Given the description of an element on the screen output the (x, y) to click on. 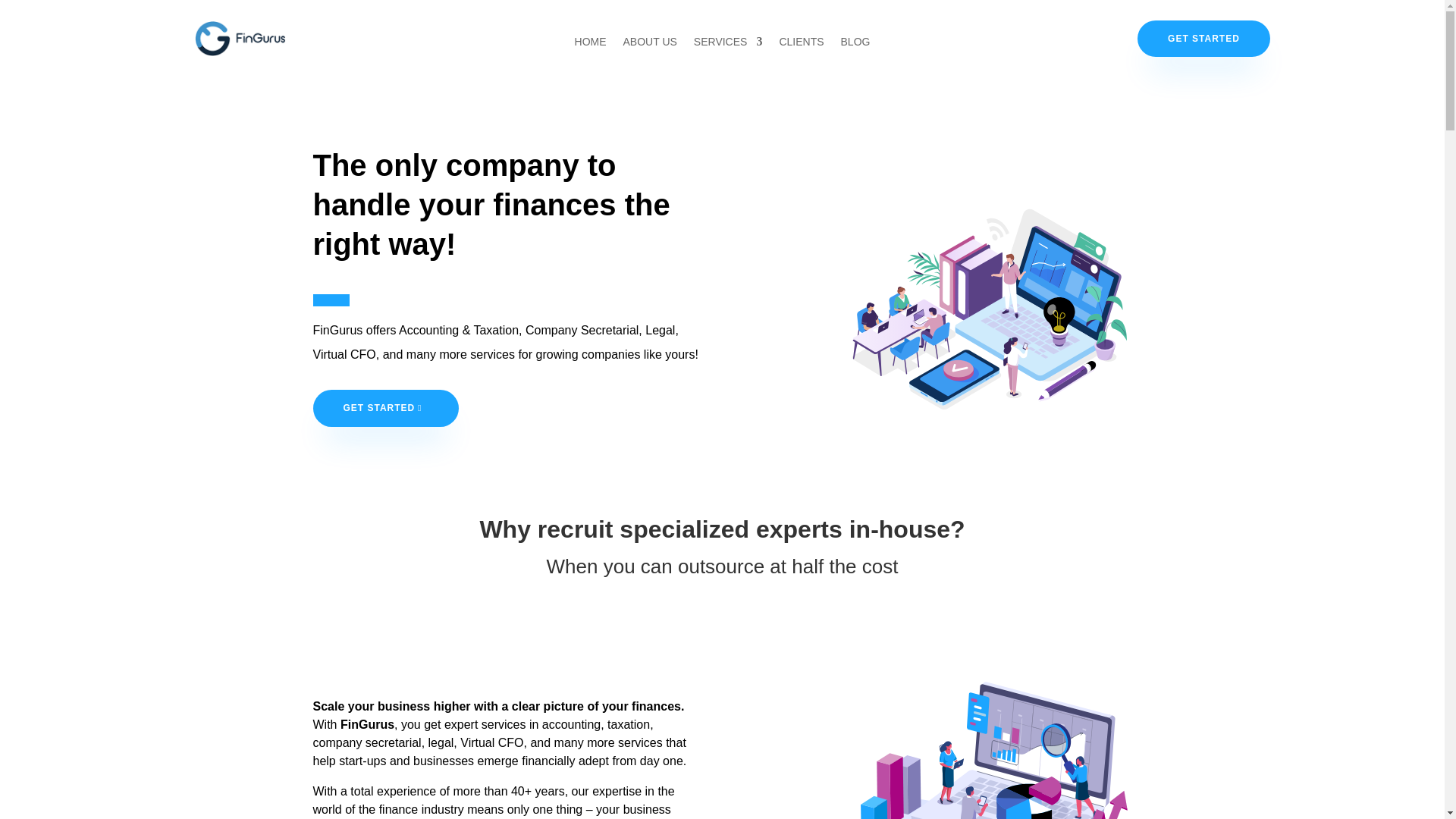
ABOUT US (650, 44)
SERVICES (728, 44)
HOME (591, 44)
Sec2 (937, 749)
GET STARTED (1203, 38)
GET STARTED (385, 407)
FinGuru-Logo (240, 38)
BLOG (855, 44)
Sec1 (937, 308)
CLIENTS (801, 44)
